Given the description of an element on the screen output the (x, y) to click on. 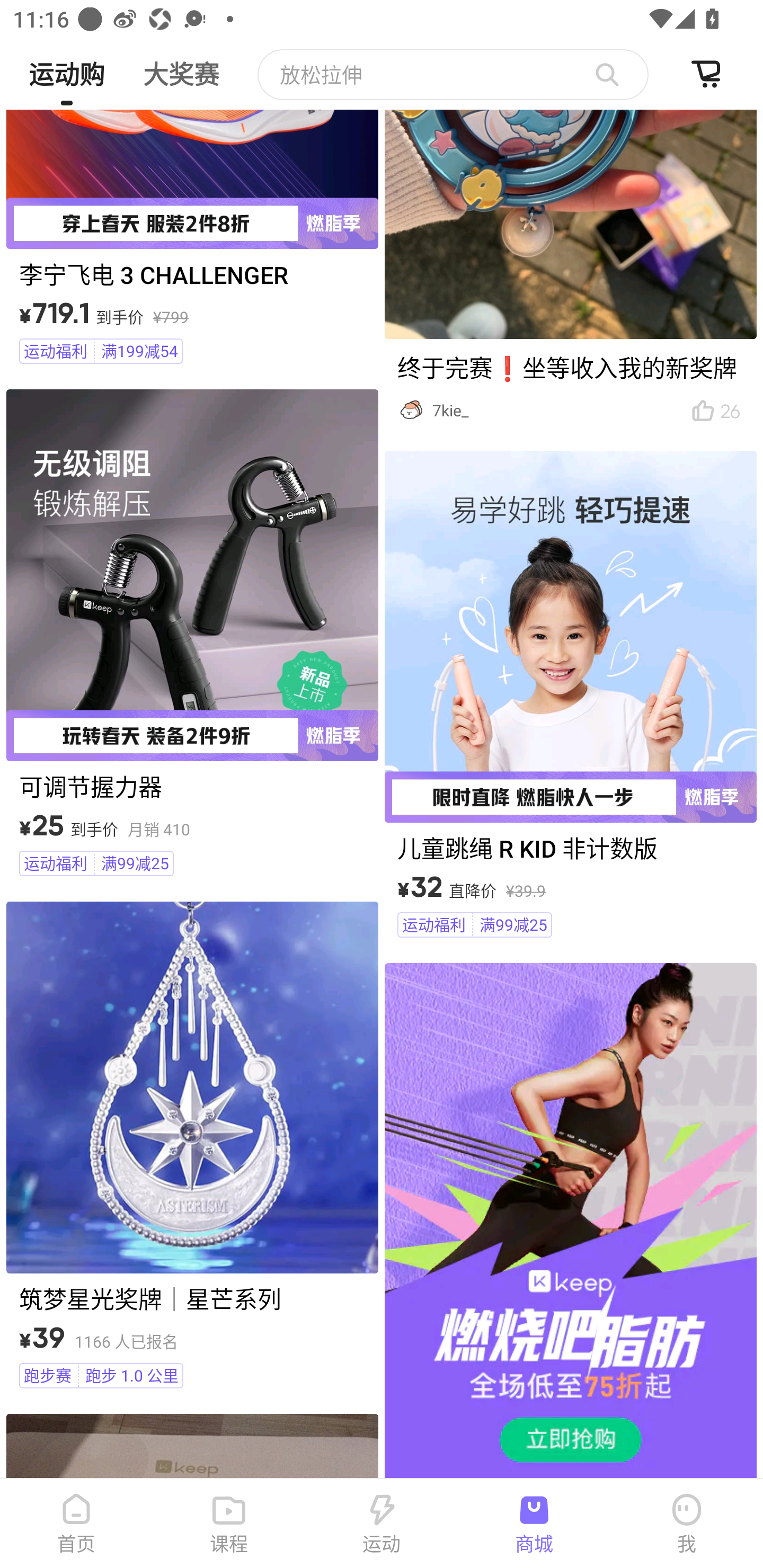
运动购 (66, 66)
大奖赛 (180, 66)
放松拉伸 (452, 74)
李宁飞电 3 CHALLENGER ¥ 719.1 到手价 ¥799 运动福利 满199减54 (192, 239)
7kie_ 26  (570, 270)
可调节握力器 ¥ 25 到手价 月销 410 运动福利 满99减25 (192, 635)
7kie_ (550, 410)
儿童跳绳 R KID 非计数版 ¥ 32 直降价 ¥39.9 运动福利 满99减25 (570, 697)
筑梦星光奖牌｜星芒系列 ¥ 39 1166 人已报名 跑步赛 跑步 1.0 公里 (192, 1148)
首页 (76, 1523)
课程 (228, 1523)
运动 (381, 1523)
商城 (533, 1523)
我 (686, 1523)
